Given the description of an element on the screen output the (x, y) to click on. 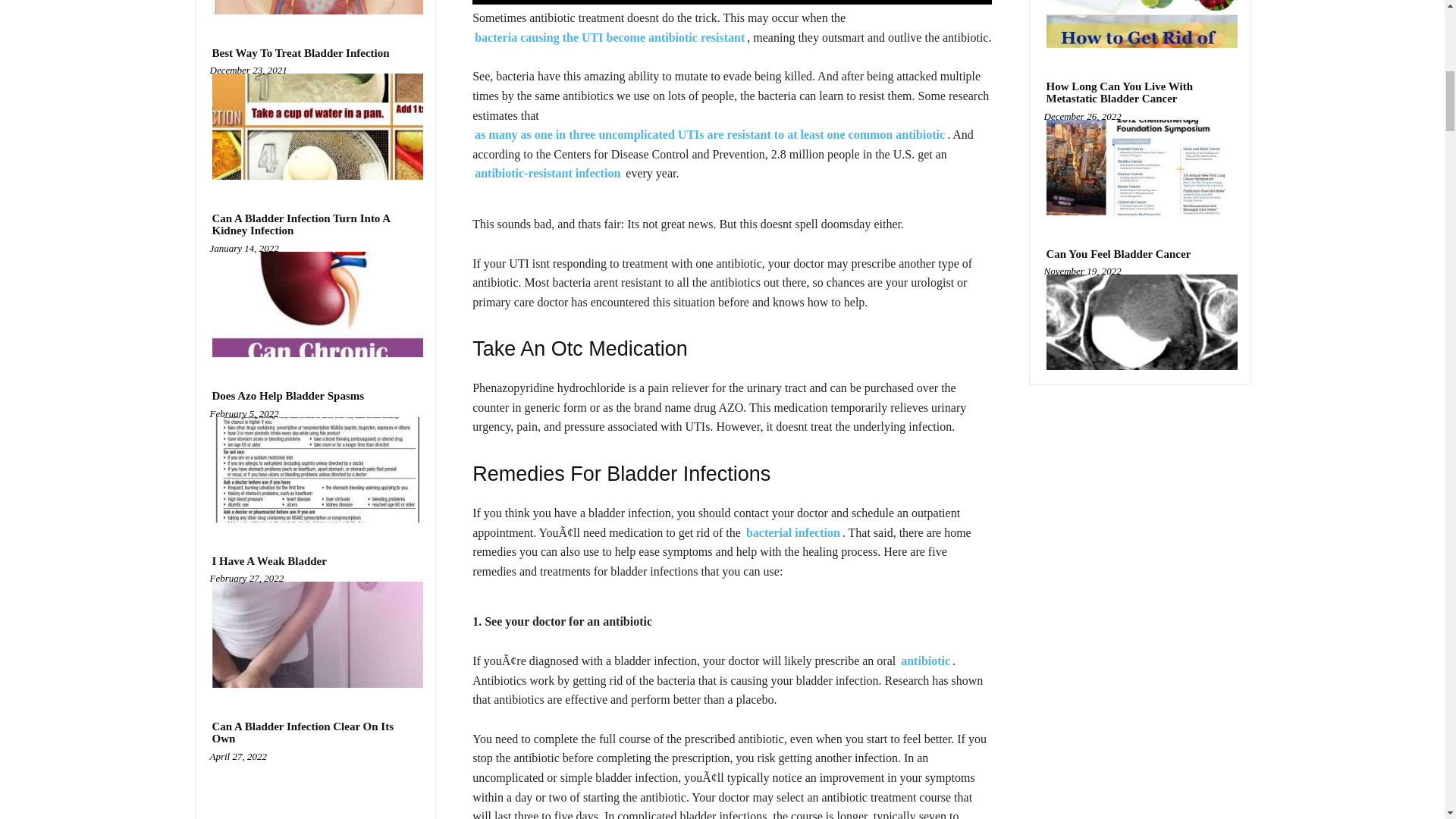
Best Way To Treat Bladder Infection (314, 126)
Best Way To Treat Bladder Infection (300, 52)
What Do They Do For Bladder Cancer (314, 7)
